Given the description of an element on the screen output the (x, y) to click on. 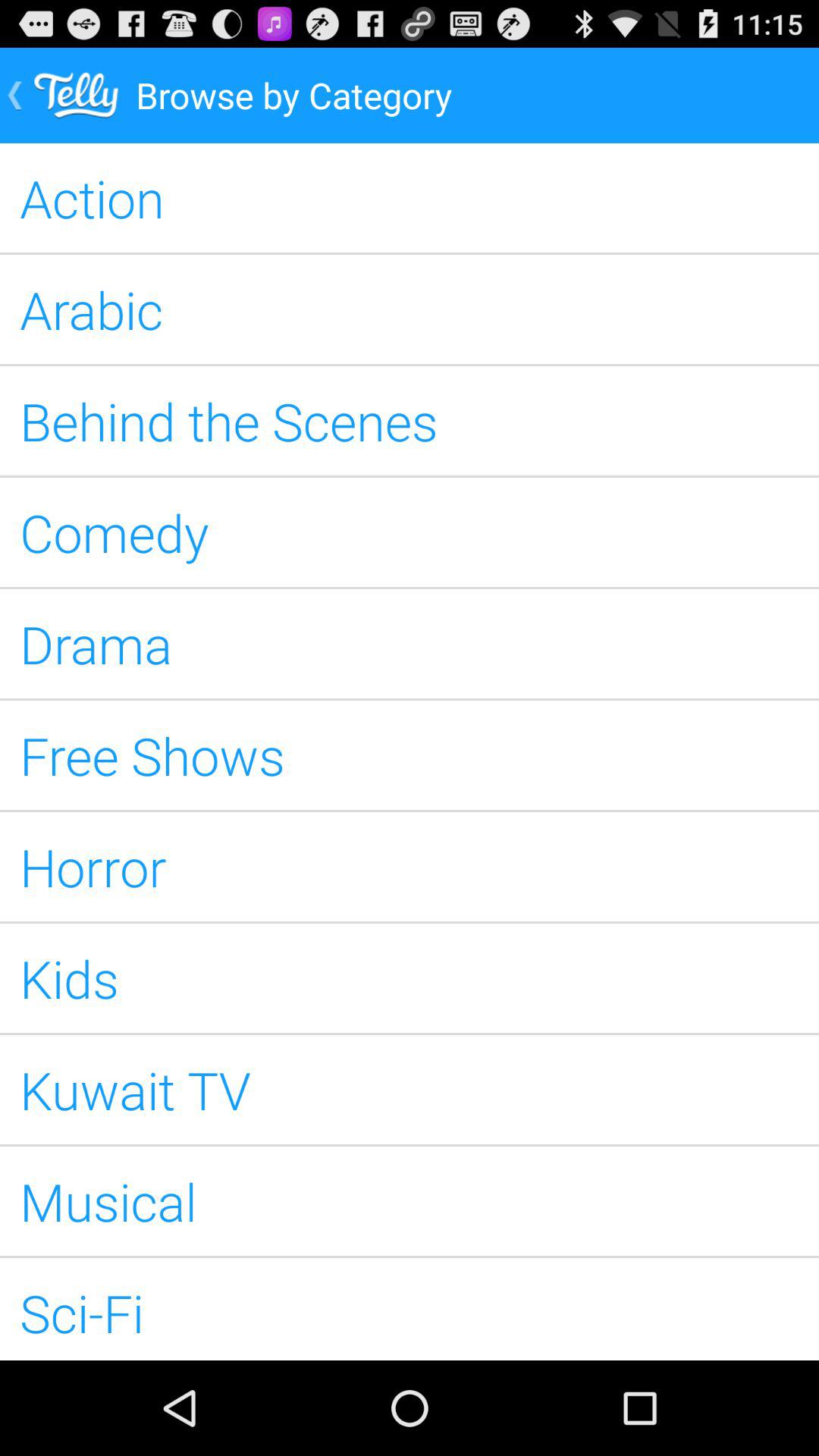
turn off icon below the horror app (409, 977)
